Given the description of an element on the screen output the (x, y) to click on. 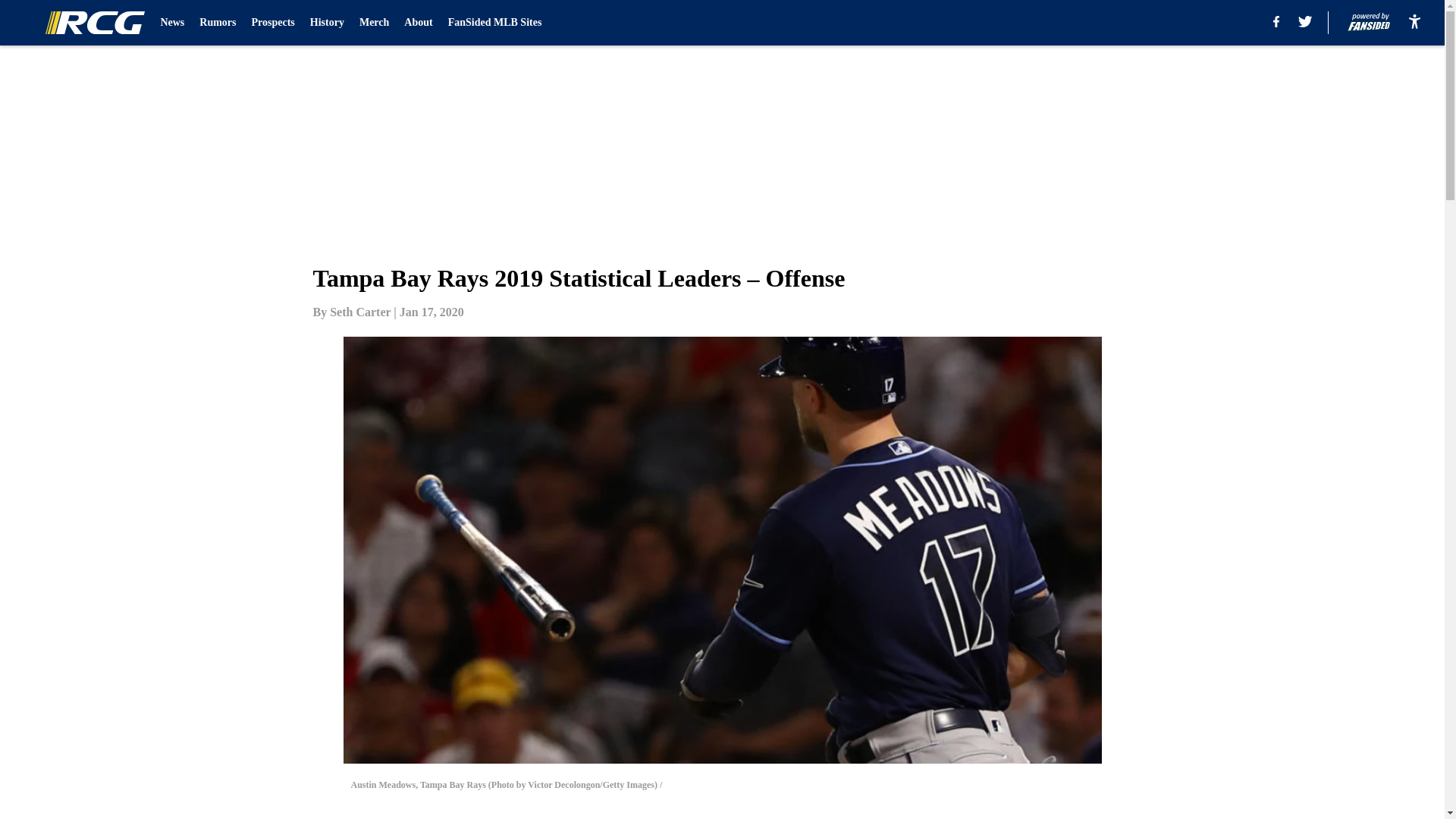
FanSided MLB Sites (494, 22)
Merch (373, 22)
News (172, 22)
Prospects (273, 22)
About (418, 22)
Rumors (217, 22)
History (326, 22)
